Given the description of an element on the screen output the (x, y) to click on. 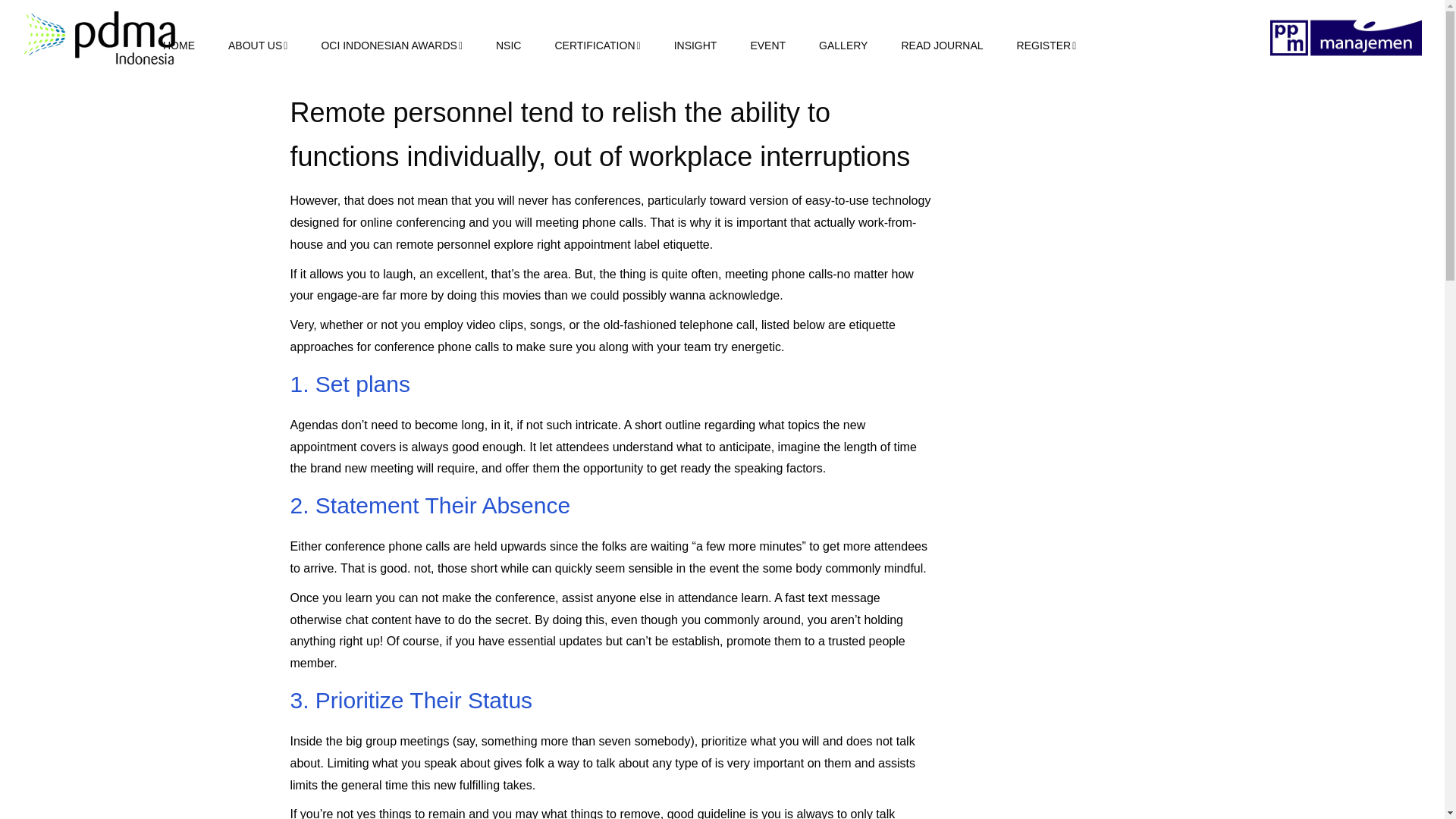
INSIGHT (695, 45)
REGISTER (1047, 45)
GALLERY (843, 45)
HOME (179, 45)
OCI INDONESIAN AWARDS (391, 45)
NSIC (508, 45)
EVENT (767, 45)
READ JOURNAL (941, 45)
CERTIFICATION (597, 45)
ABOUT US (257, 45)
